Given the description of an element on the screen output the (x, y) to click on. 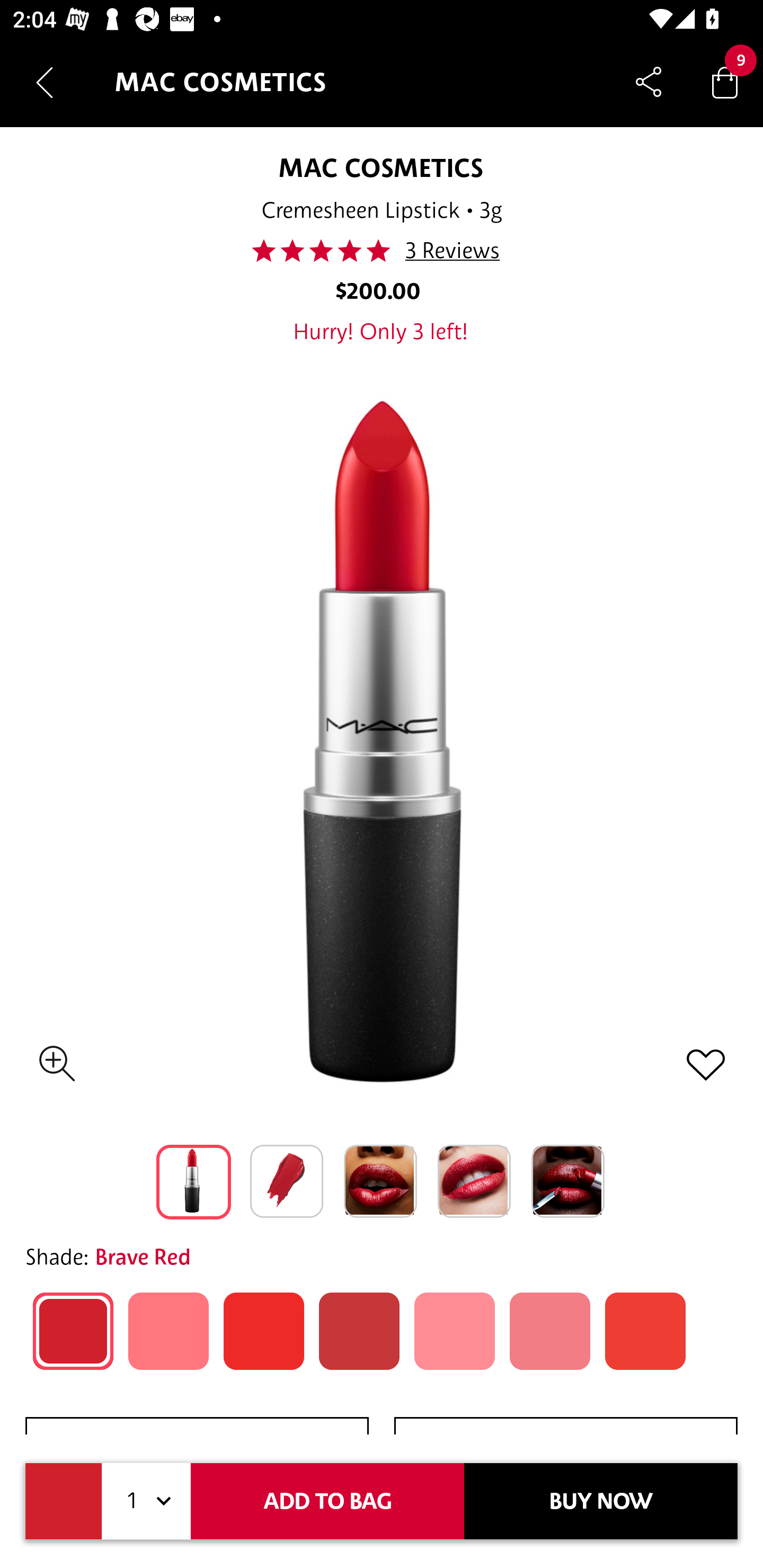
Navigate up (44, 82)
Share (648, 81)
Bag (724, 81)
MAC COSMETICS (380, 167)
50.0 3 Reviews (380, 250)
1 (145, 1500)
ADD TO BAG (326, 1500)
BUY NOW (600, 1500)
